Given the description of an element on the screen output the (x, y) to click on. 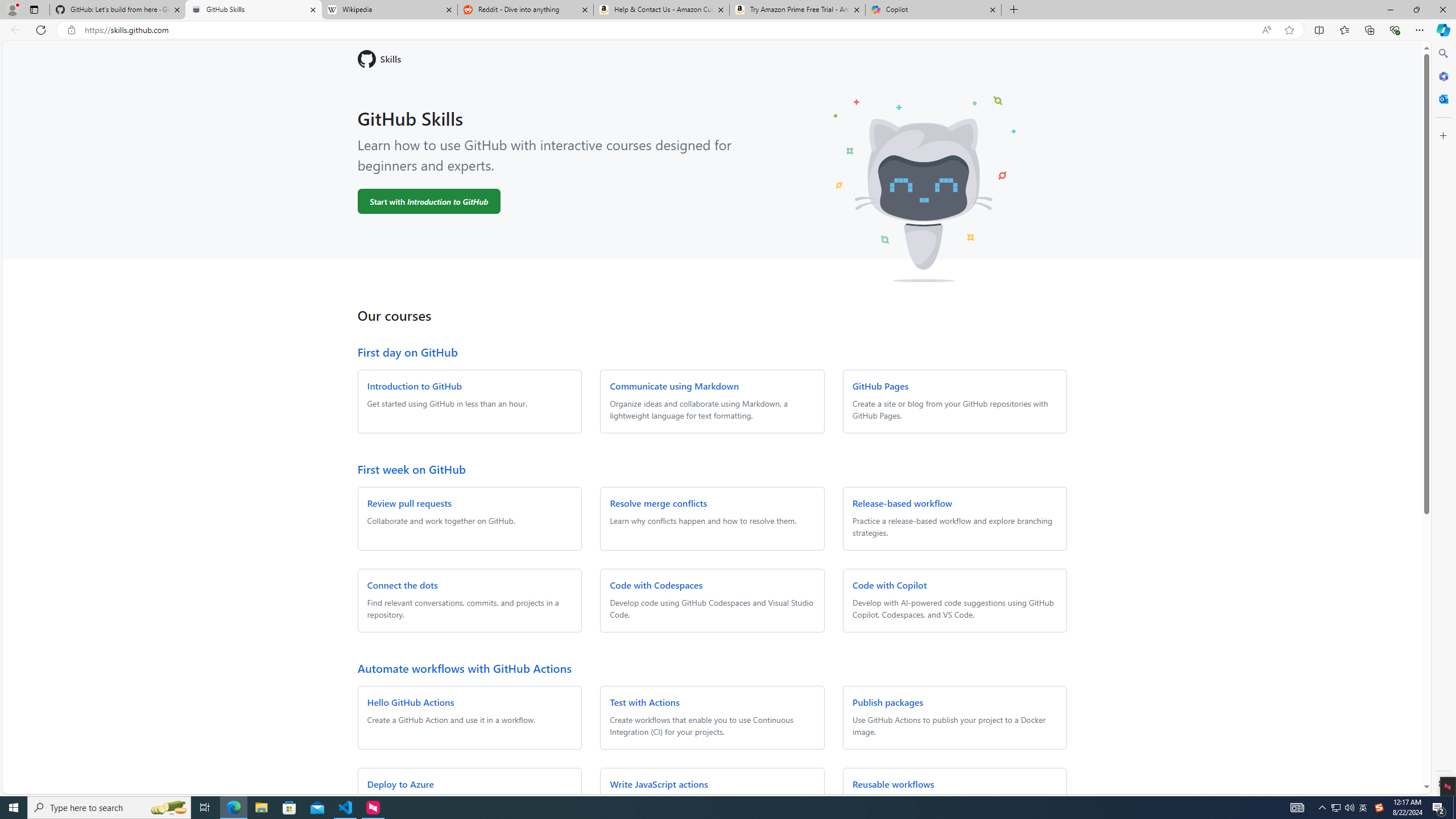
Hello GitHub Actions (410, 702)
Release-based workflow (901, 503)
Deploy to Azure (399, 784)
Try Amazon Prime Free Trial - Amazon Customer Service (797, 9)
First week on GitHub (410, 468)
